Given the description of an element on the screen output the (x, y) to click on. 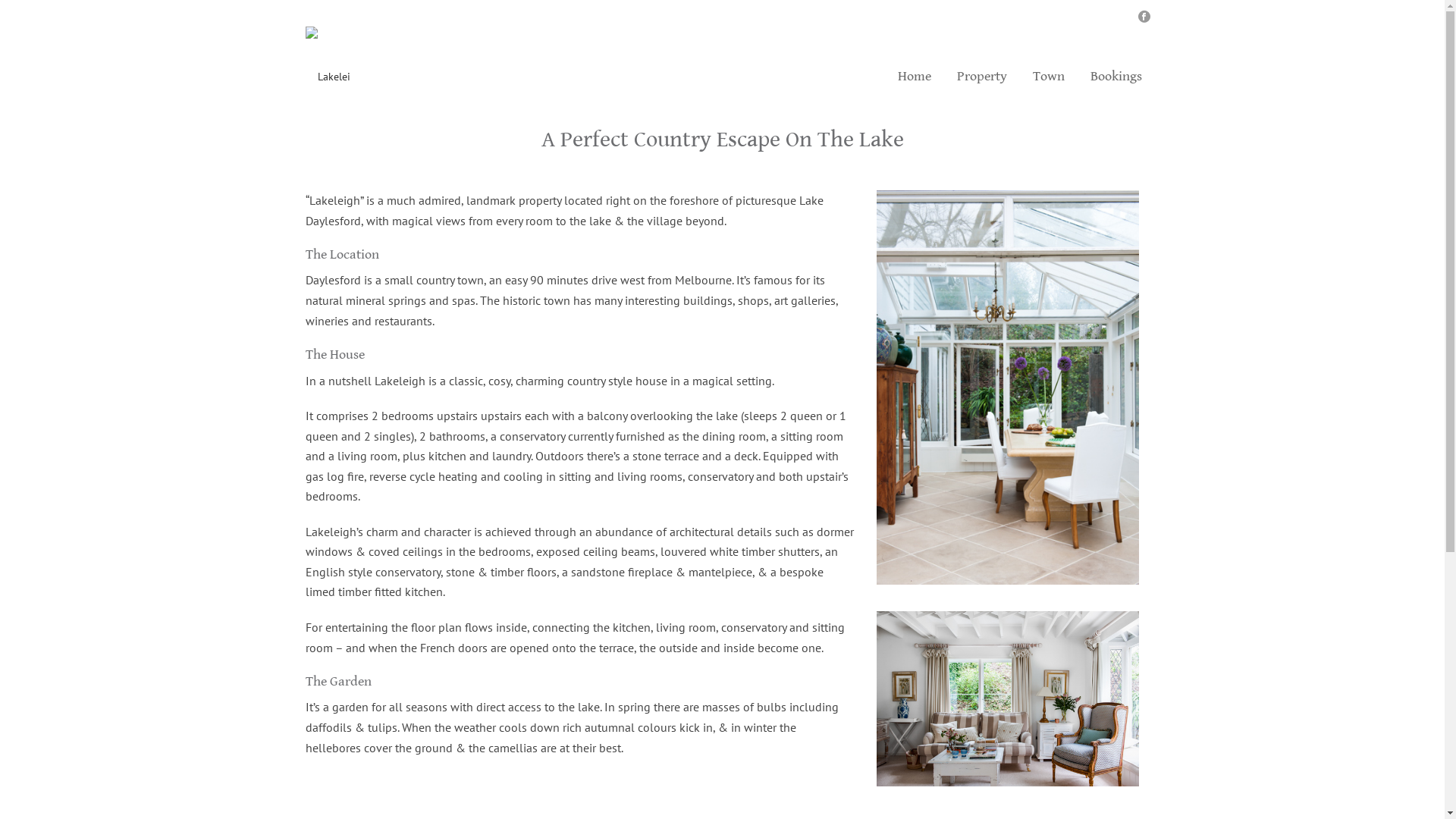
facebook Element type: hover (1143, 17)
Property Element type: text (981, 77)
Home Element type: text (913, 77)
Town Element type: text (1047, 77)
Bookings Element type: text (1115, 77)
